Given the description of an element on the screen output the (x, y) to click on. 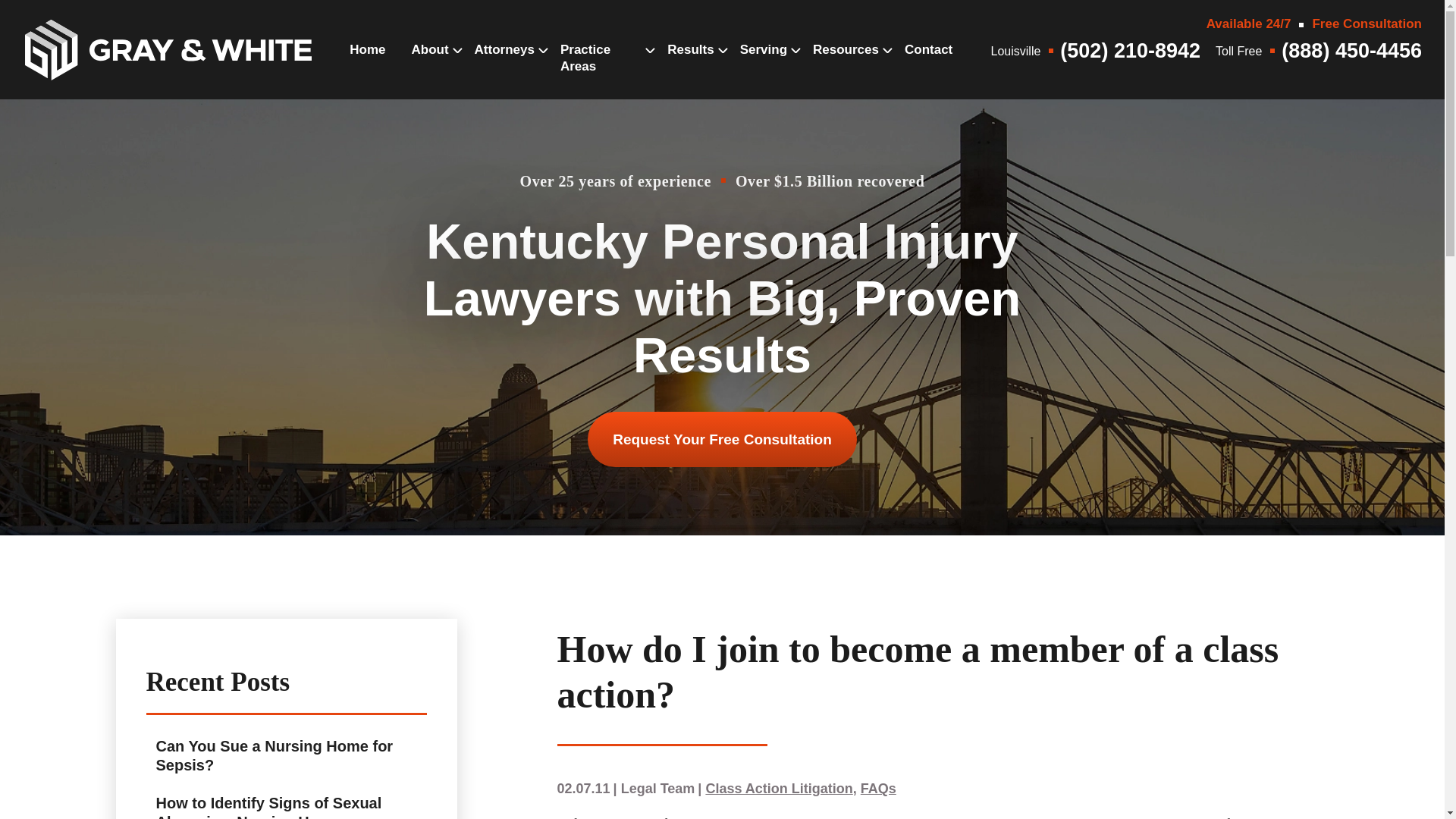
Resources (845, 64)
Results (689, 64)
Serving (763, 64)
Attorneys (504, 64)
Practice Areas (601, 73)
